Given the description of an element on the screen output the (x, y) to click on. 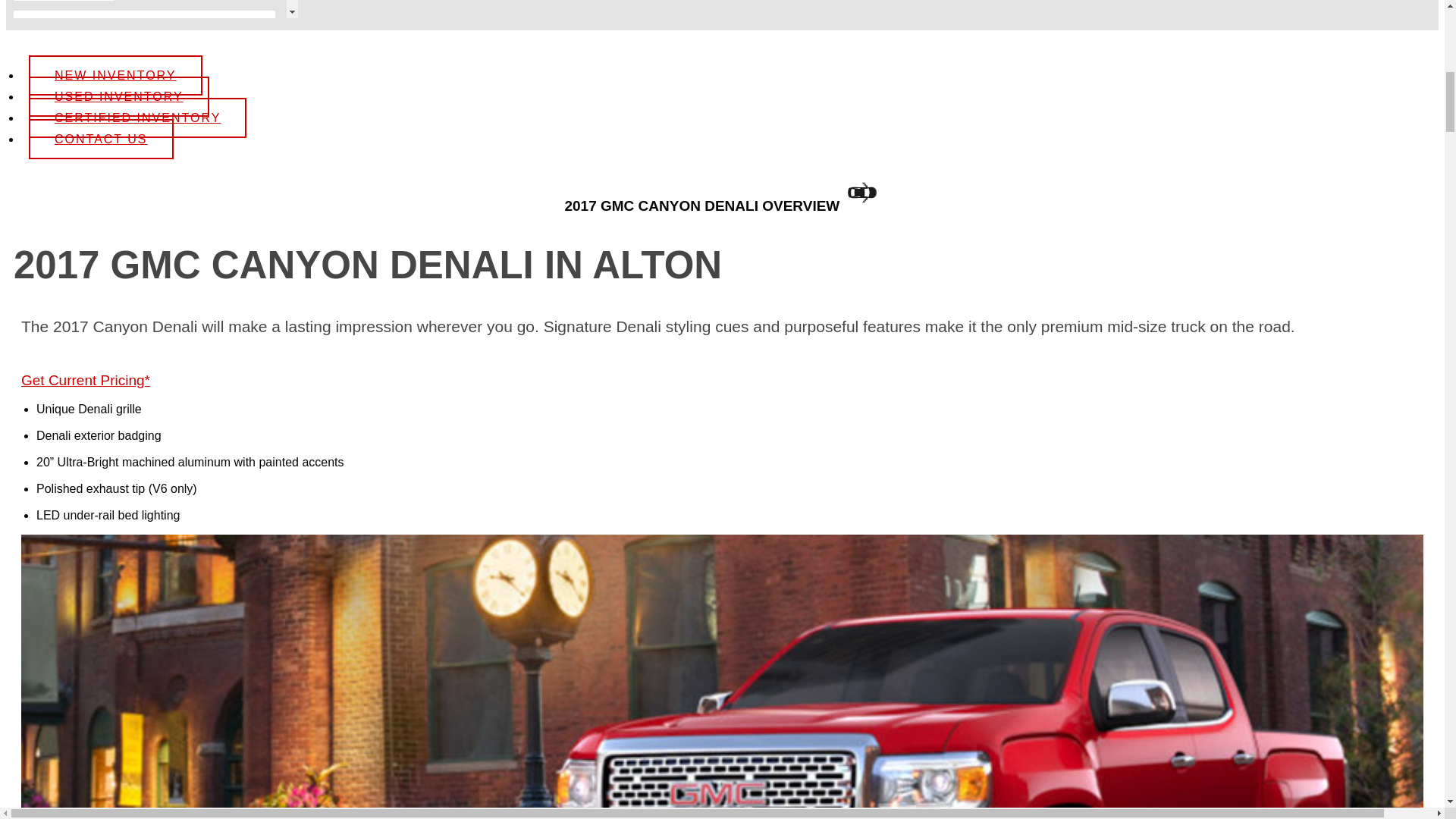
2024 ACADIA (149, 1)
2024 TERRAIN AT4 (149, 621)
2024 TERRAIN (149, 446)
2024 TERRAIN DENALI (149, 766)
2024 ACADIA AT4 (149, 94)
2024 ACADIA DENALI (149, 270)
